Given the description of an element on the screen output the (x, y) to click on. 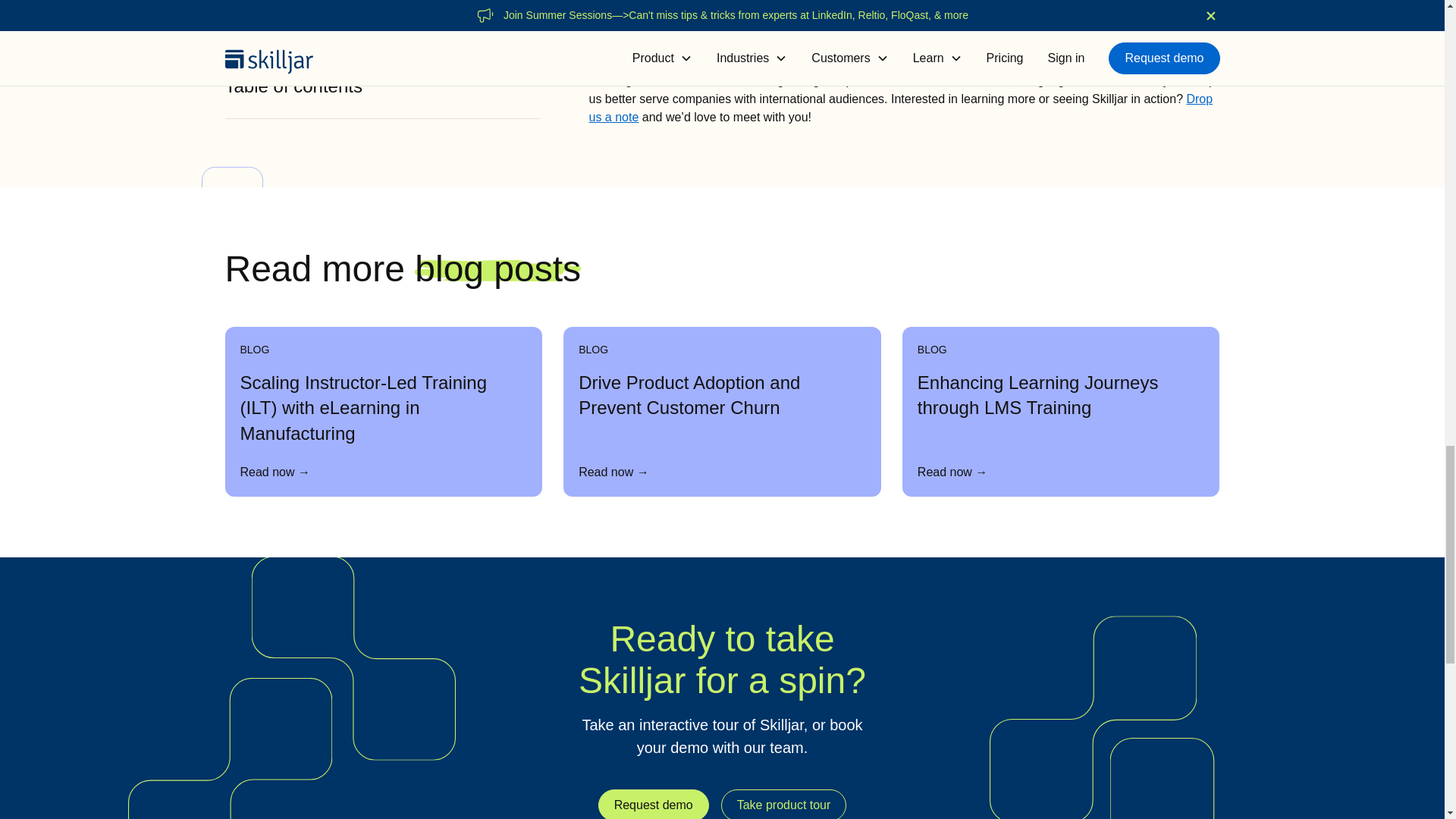
Take product tour (783, 804)
Request demo (653, 804)
Drop us a note (900, 107)
